Given the description of an element on the screen output the (x, y) to click on. 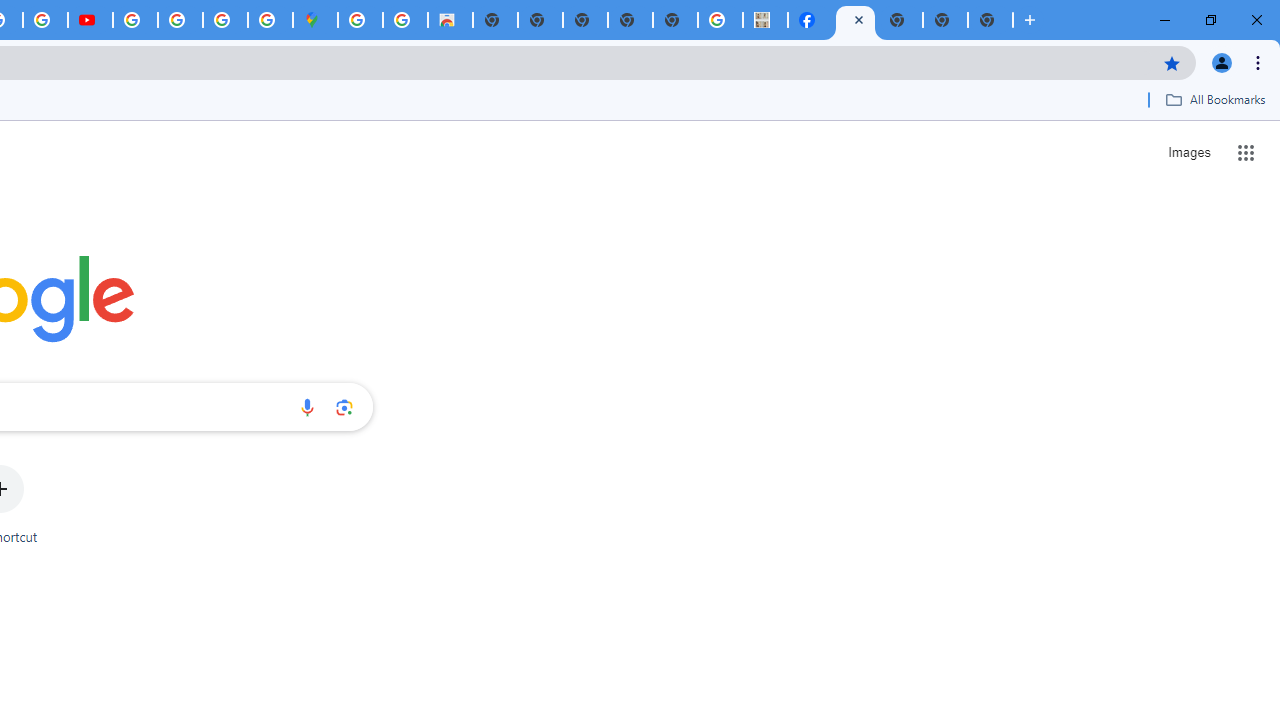
New Tab (989, 20)
Search by image (344, 407)
Subscriptions - YouTube (89, 20)
Miley Cyrus | Facebook (810, 20)
Google Maps (315, 20)
How Chrome protects your passwords - Google Chrome Help (134, 20)
Chrome Web Store - Shopping (450, 20)
MILEY CYRUS. (765, 20)
Search for Images  (1188, 152)
